Given the description of an element on the screen output the (x, y) to click on. 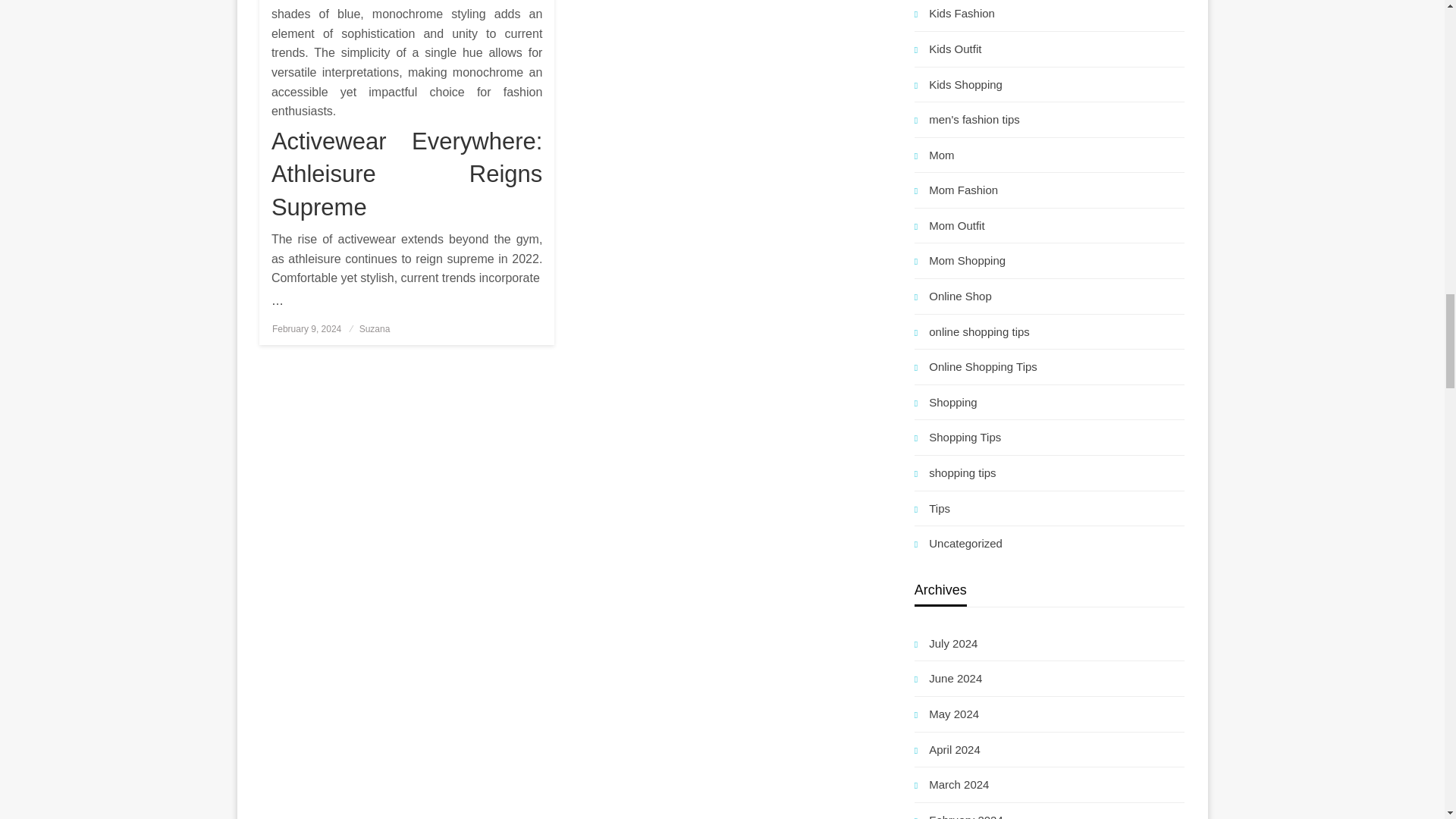
February 9, 2024 (306, 328)
Suzana (374, 328)
Suzana (374, 328)
